Given the description of an element on the screen output the (x, y) to click on. 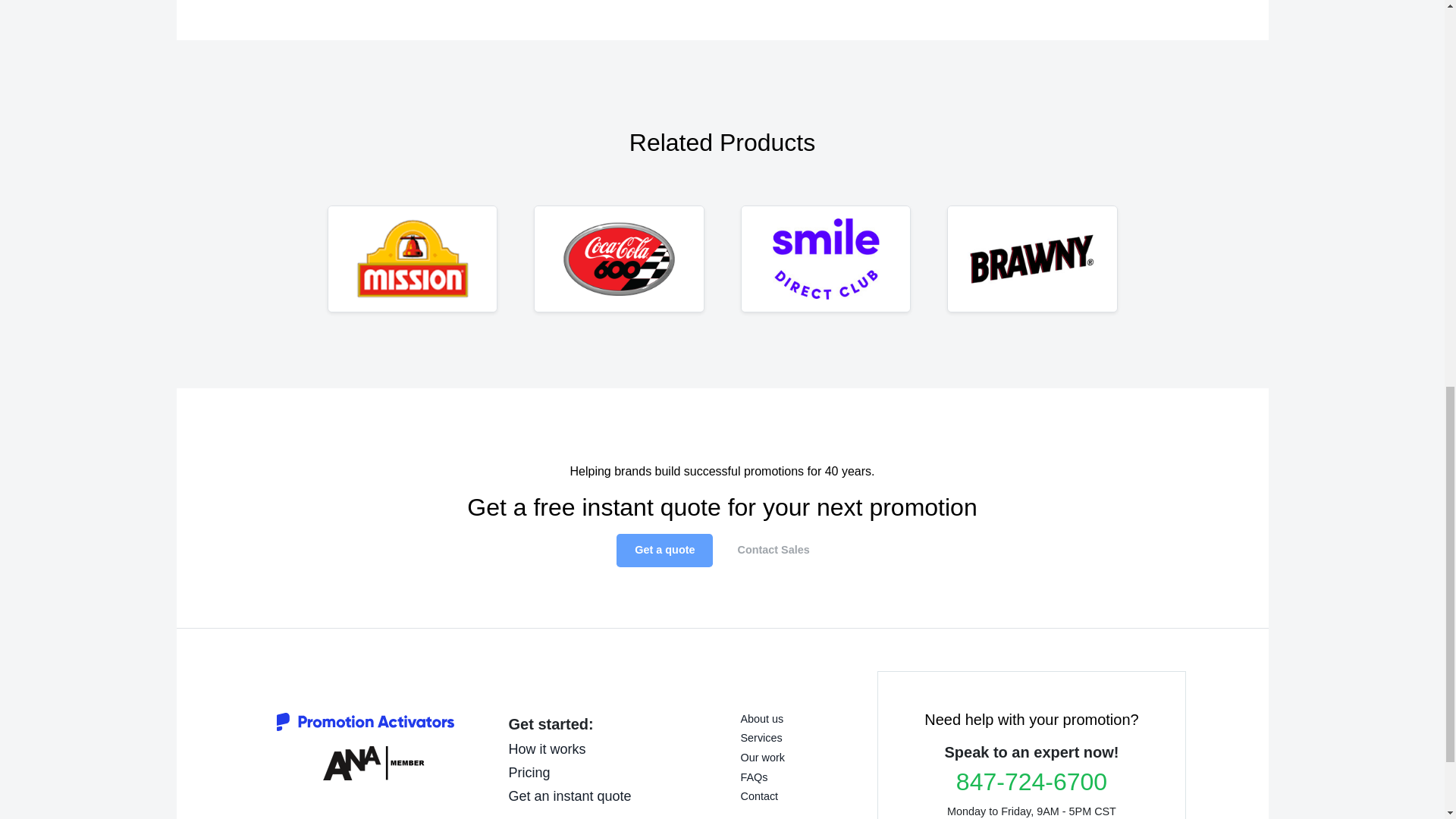
Contact Sales (773, 550)
Get a quote (664, 550)
